Given the description of an element on the screen output the (x, y) to click on. 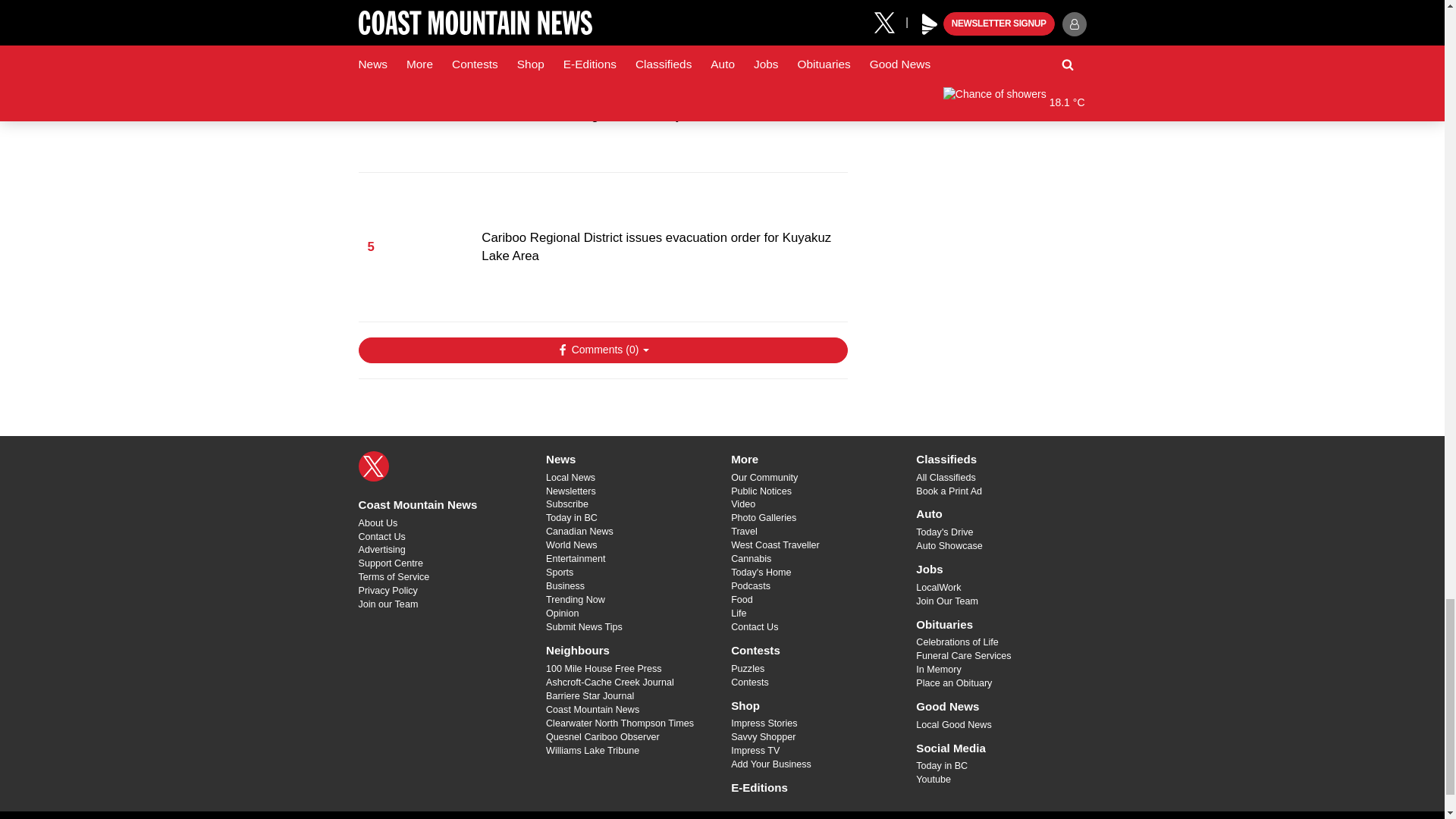
Show Comments (602, 350)
X (373, 466)
